Given the description of an element on the screen output the (x, y) to click on. 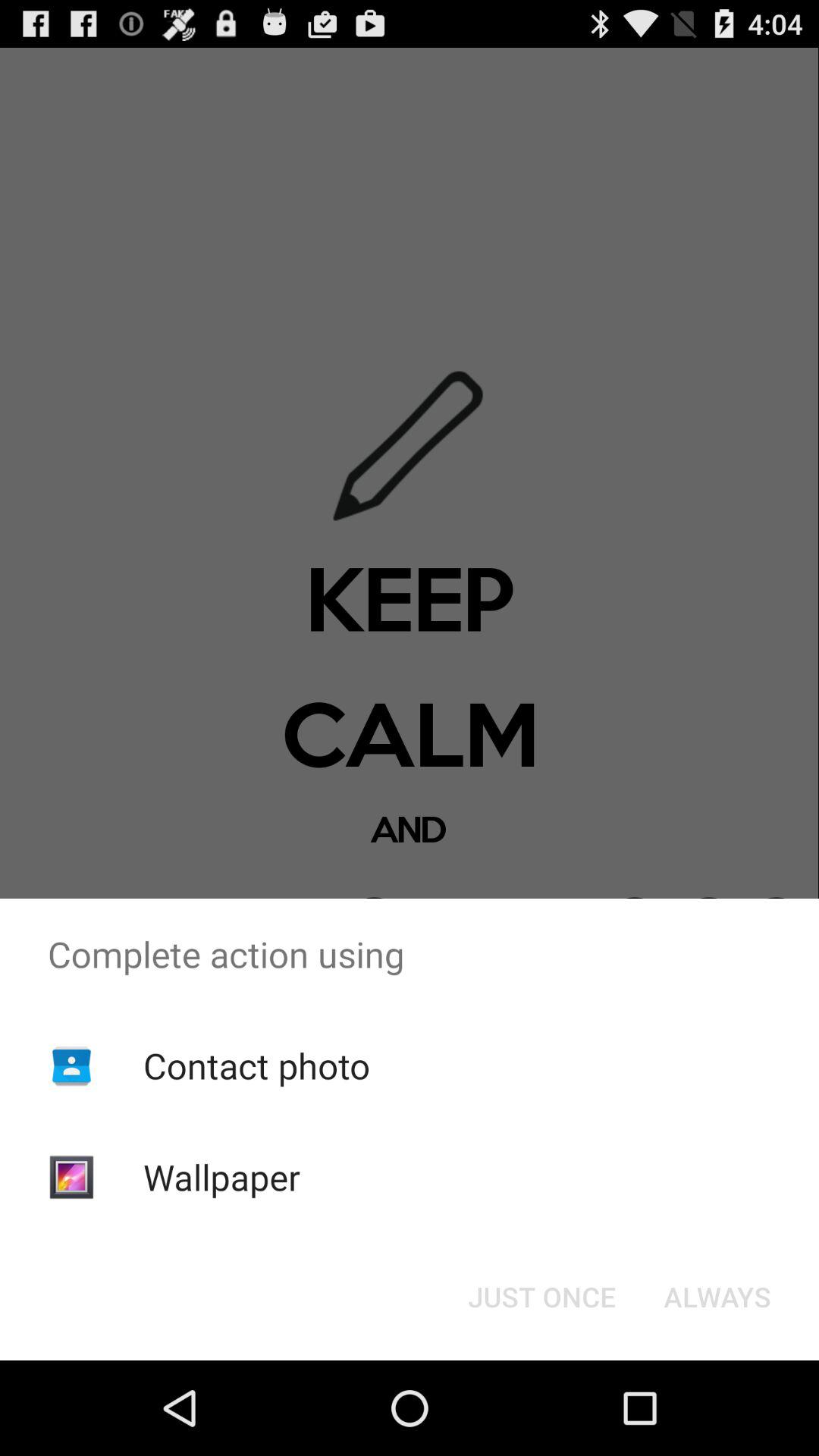
select the item at the bottom right corner (717, 1296)
